Given the description of an element on the screen output the (x, y) to click on. 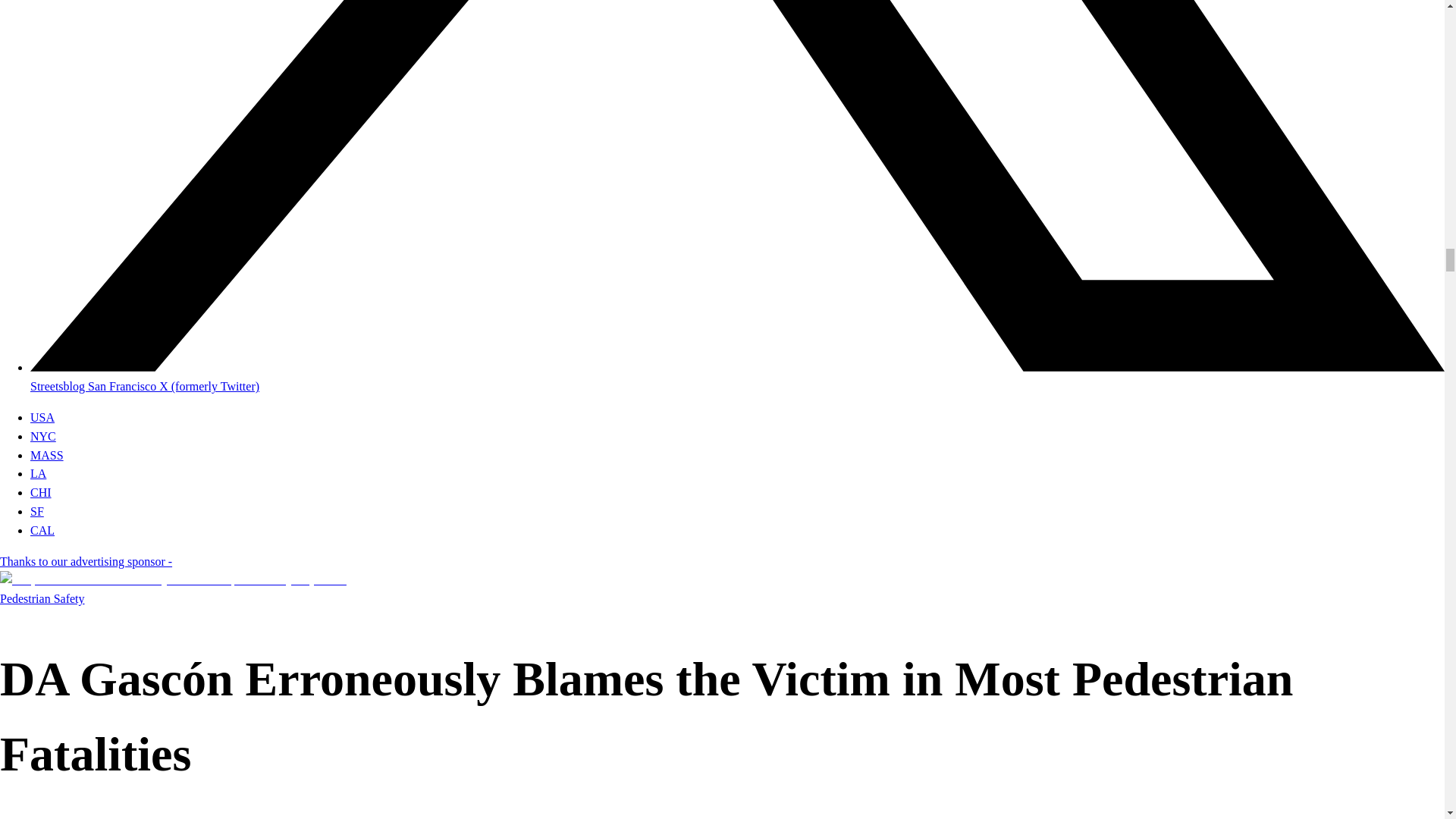
USA (42, 417)
CHI (40, 492)
MASS (47, 454)
NYC (43, 436)
SF (36, 511)
LA (38, 472)
Pedestrian Safety (42, 598)
CAL (42, 530)
